Given the description of an element on the screen output the (x, y) to click on. 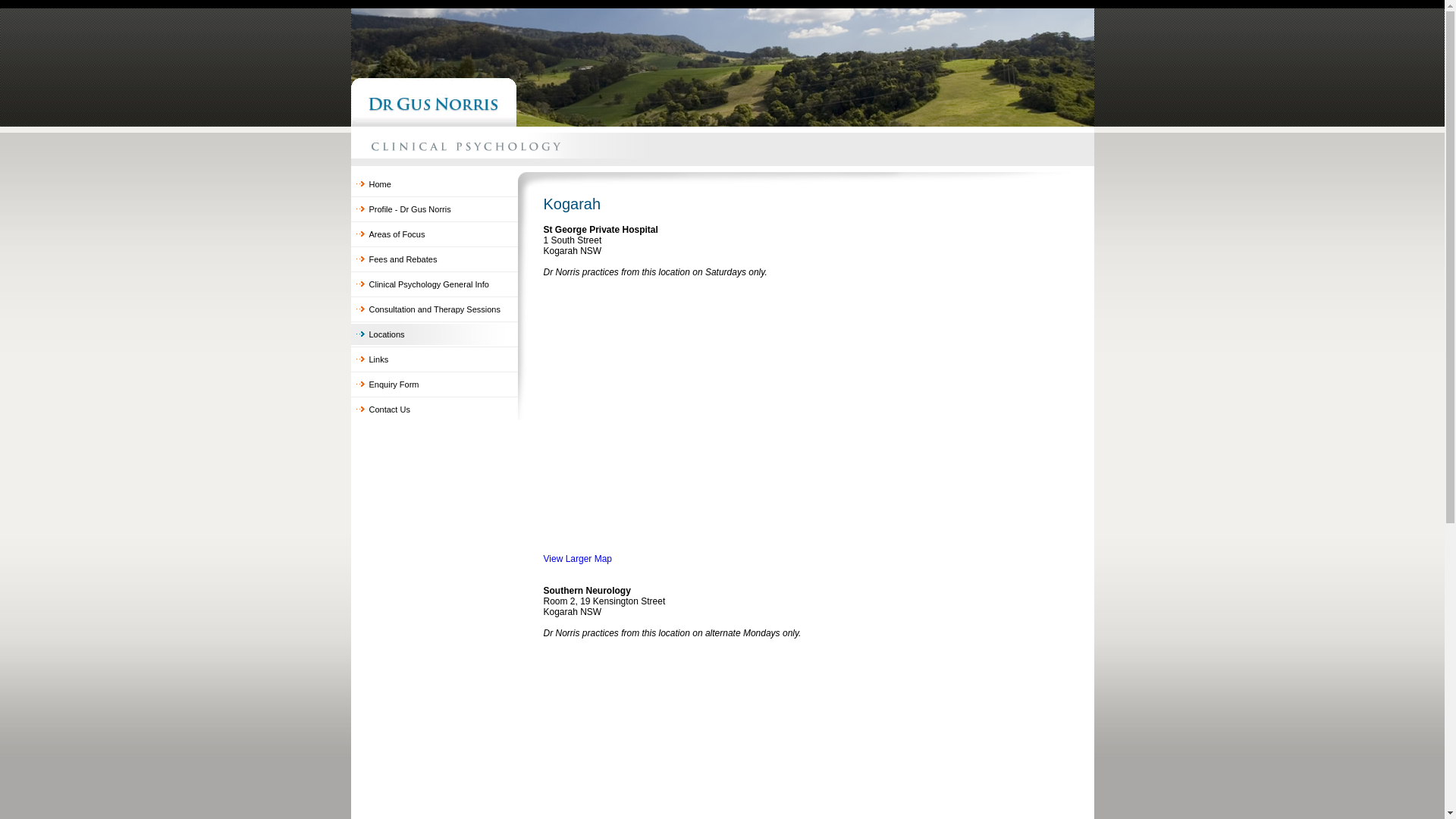
Fees and Rebates Element type: text (433, 258)
Home Element type: text (433, 183)
Contact Us Element type: text (433, 409)
Locations Element type: text (433, 333)
Links Element type: text (433, 359)
Consultation and Therapy Sessions Element type: text (433, 308)
View Larger Map Element type: text (576, 558)
Clinical Psychology General Info Element type: text (433, 283)
Profile - Dr Gus Norris Element type: text (433, 208)
Areas of Focus Element type: text (433, 233)
Enquiry Form Element type: text (433, 384)
